Given the description of an element on the screen output the (x, y) to click on. 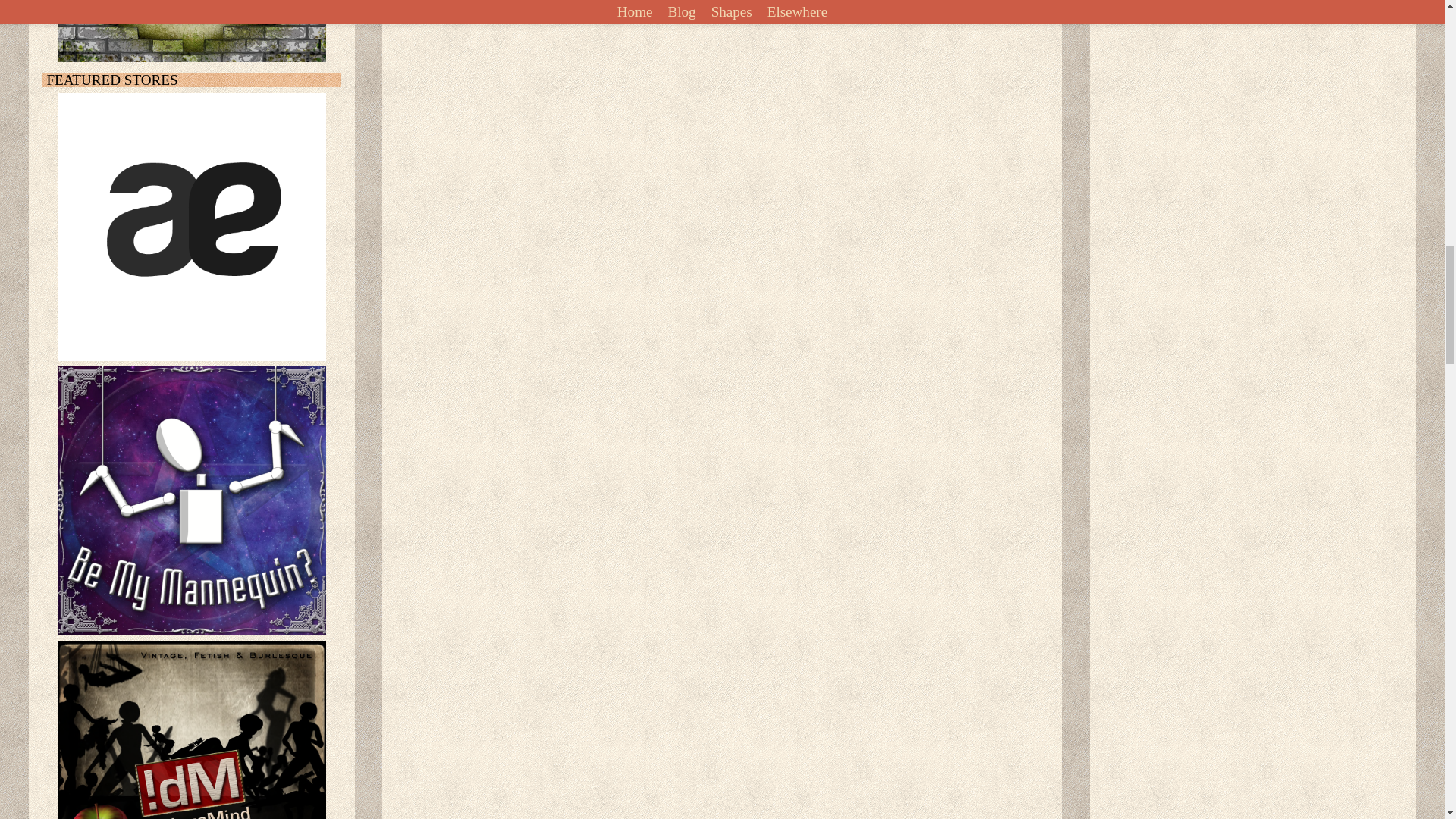
Adam n Eve (192, 226)
chanimations and deviousMind (192, 729)
We Love Role-Play (192, 31)
Be My Mannequin? (192, 500)
